Given the description of an element on the screen output the (x, y) to click on. 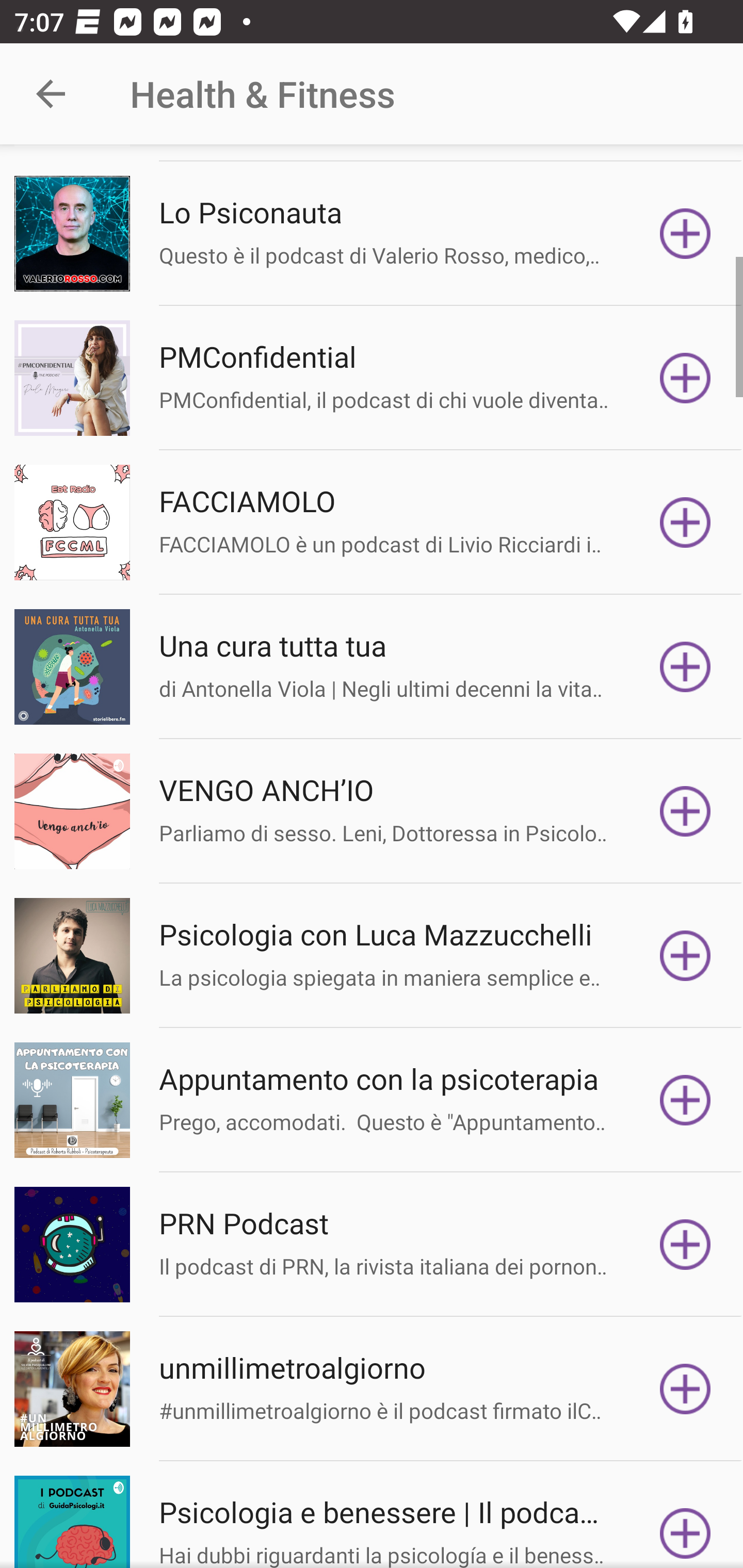
Navigate up (50, 93)
Subscribe (685, 233)
Subscribe (685, 377)
Subscribe (685, 522)
Subscribe (685, 666)
Subscribe (685, 811)
Subscribe (685, 955)
Subscribe (685, 1099)
Subscribe (685, 1244)
Subscribe (685, 1389)
Subscribe (685, 1521)
